Given the description of an element on the screen output the (x, y) to click on. 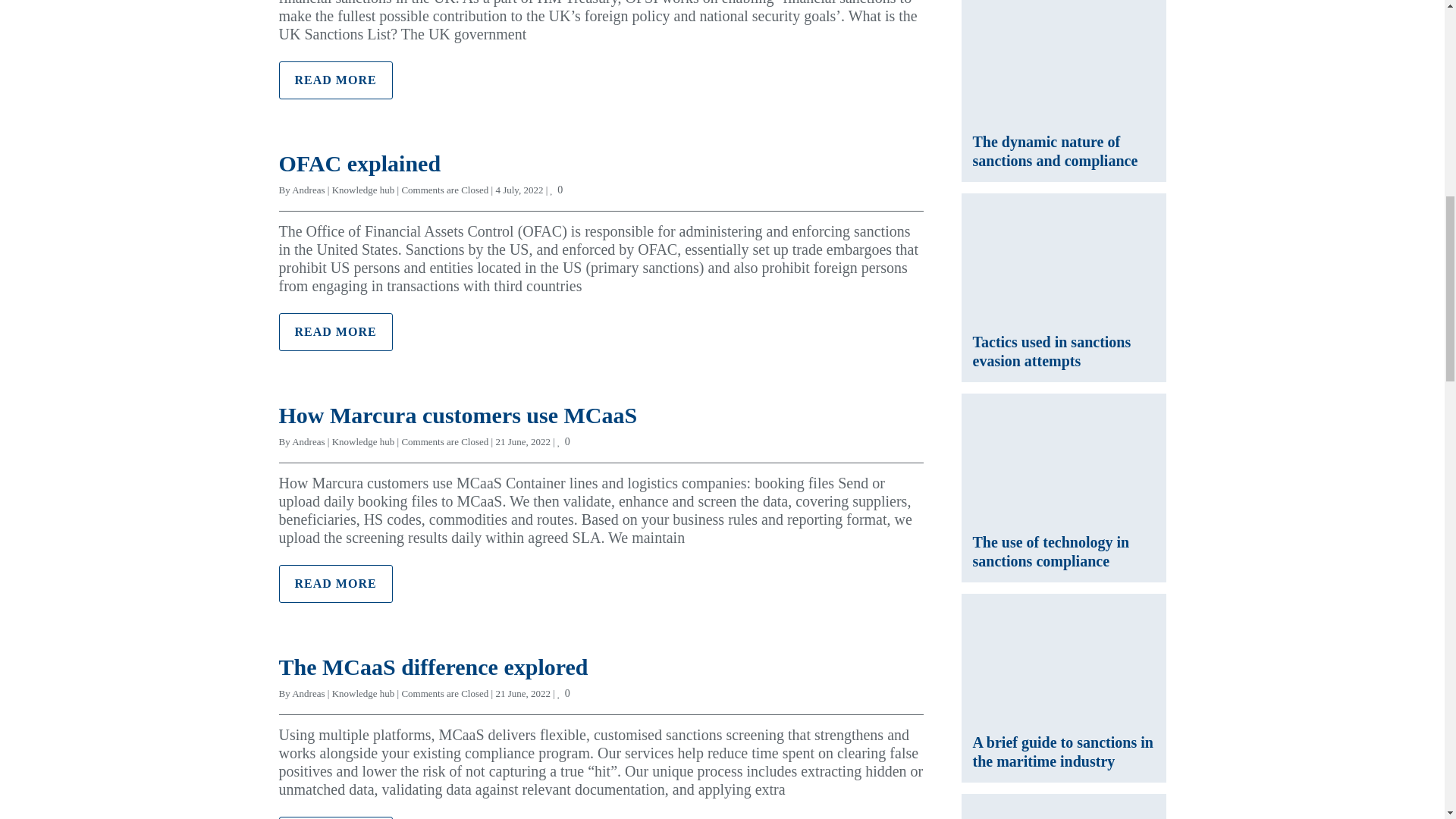
OFAC explained (360, 163)
Like this (558, 189)
OFAC explained (360, 163)
Posts by Andreas (308, 189)
Andreas (308, 189)
READ MORE (336, 80)
